Given the description of an element on the screen output the (x, y) to click on. 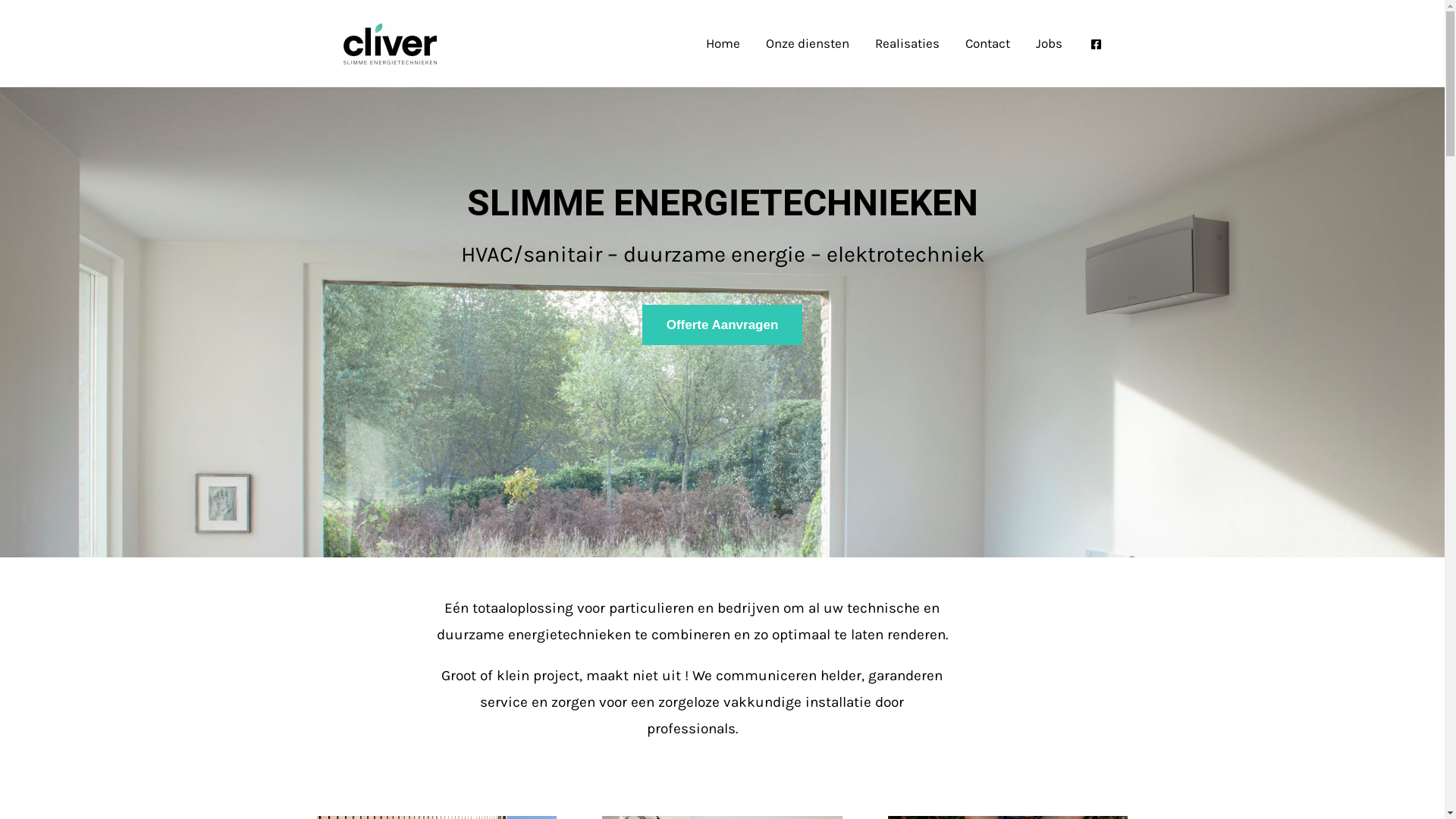
Realisaties Element type: text (906, 43)
Home Element type: text (723, 43)
Contact Element type: text (987, 43)
Onze diensten Element type: text (806, 43)
Offerte Aanvragen Element type: text (722, 324)
Jobs Element type: text (1048, 43)
